Given the description of an element on the screen output the (x, y) to click on. 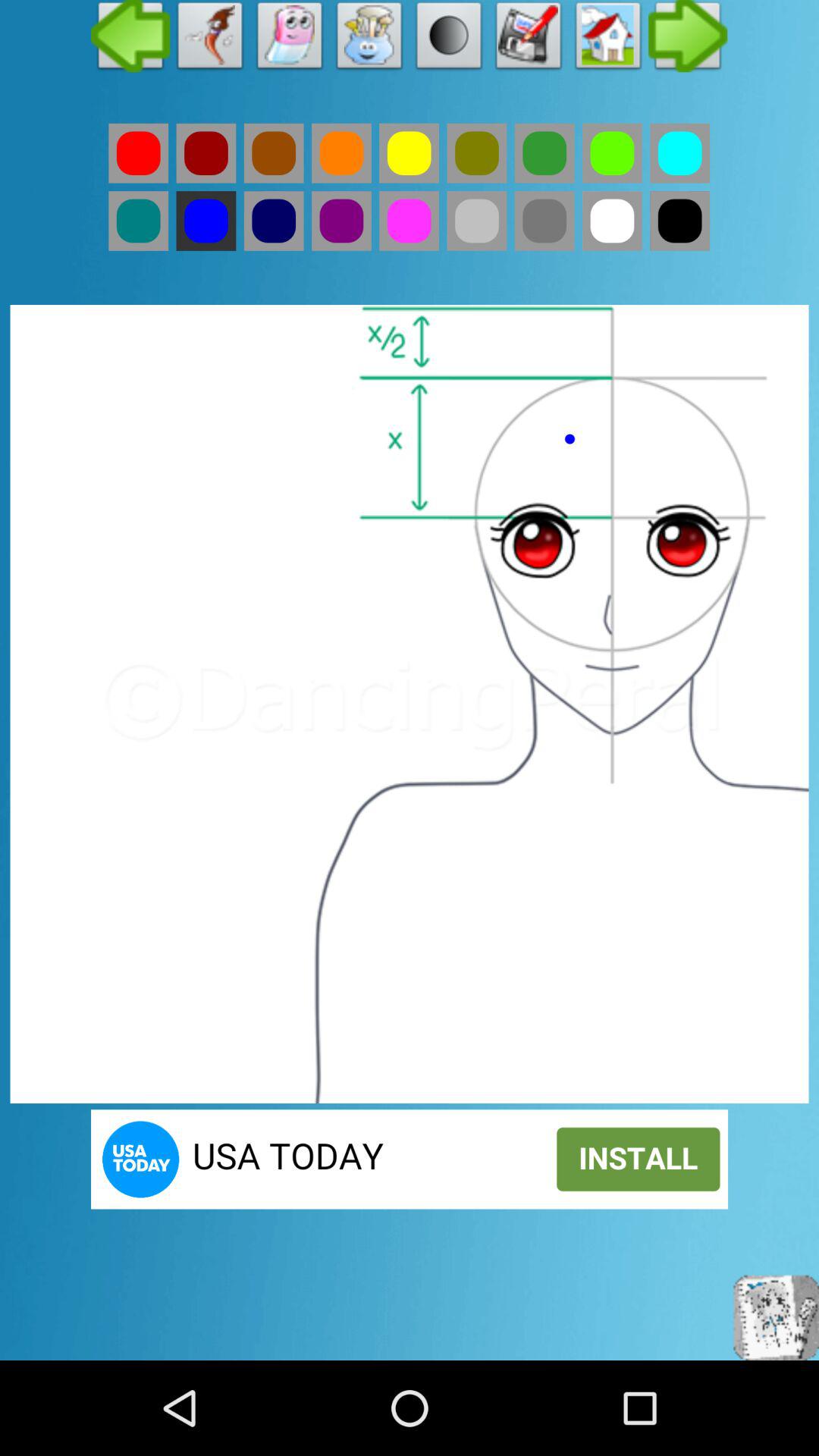
colour tab (679, 153)
